Given the description of an element on the screen output the (x, y) to click on. 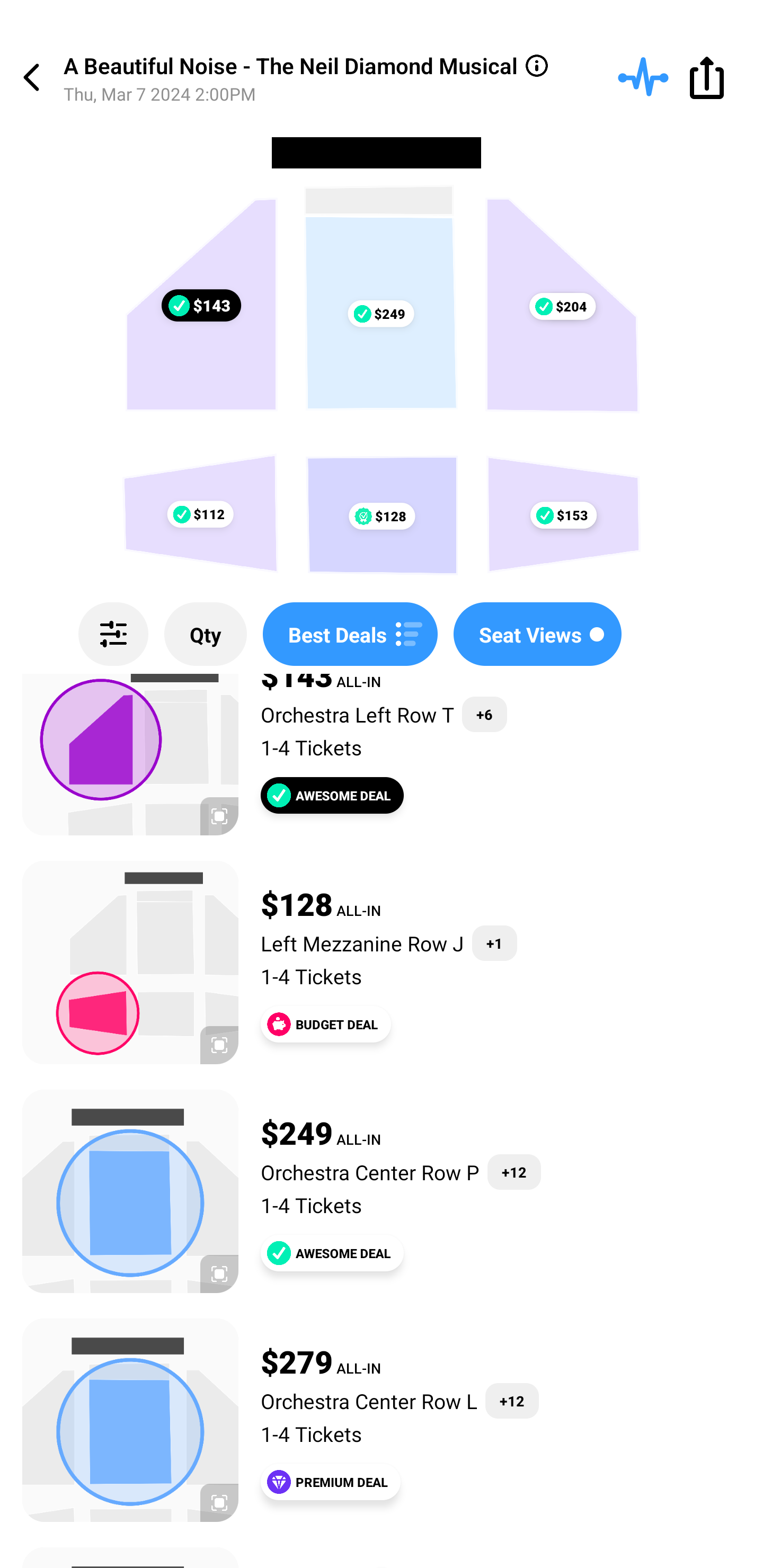
$249 (380, 313)
Qty (205, 634)
Best Deals (349, 634)
Seat Views (537, 634)
+6 (484, 714)
AWESOME DEAL (331, 795)
+1 (494, 943)
BUDGET DEAL (325, 1024)
+12 (513, 1172)
AWESOME DEAL (331, 1253)
+12 (511, 1400)
PREMIUM DEAL (330, 1481)
